Given the description of an element on the screen output the (x, y) to click on. 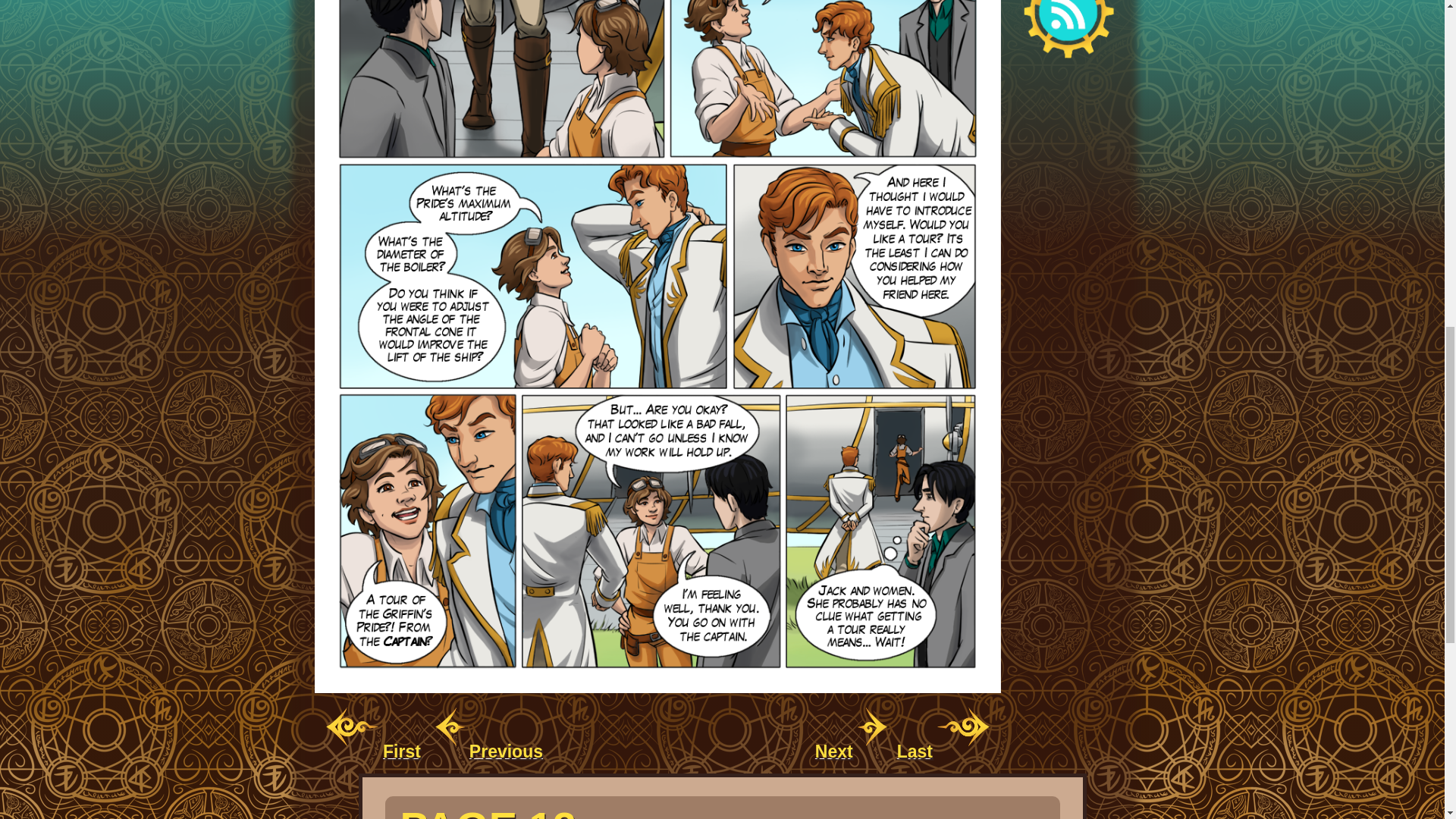
First (374, 753)
Previous (486, 753)
